Given the description of an element on the screen output the (x, y) to click on. 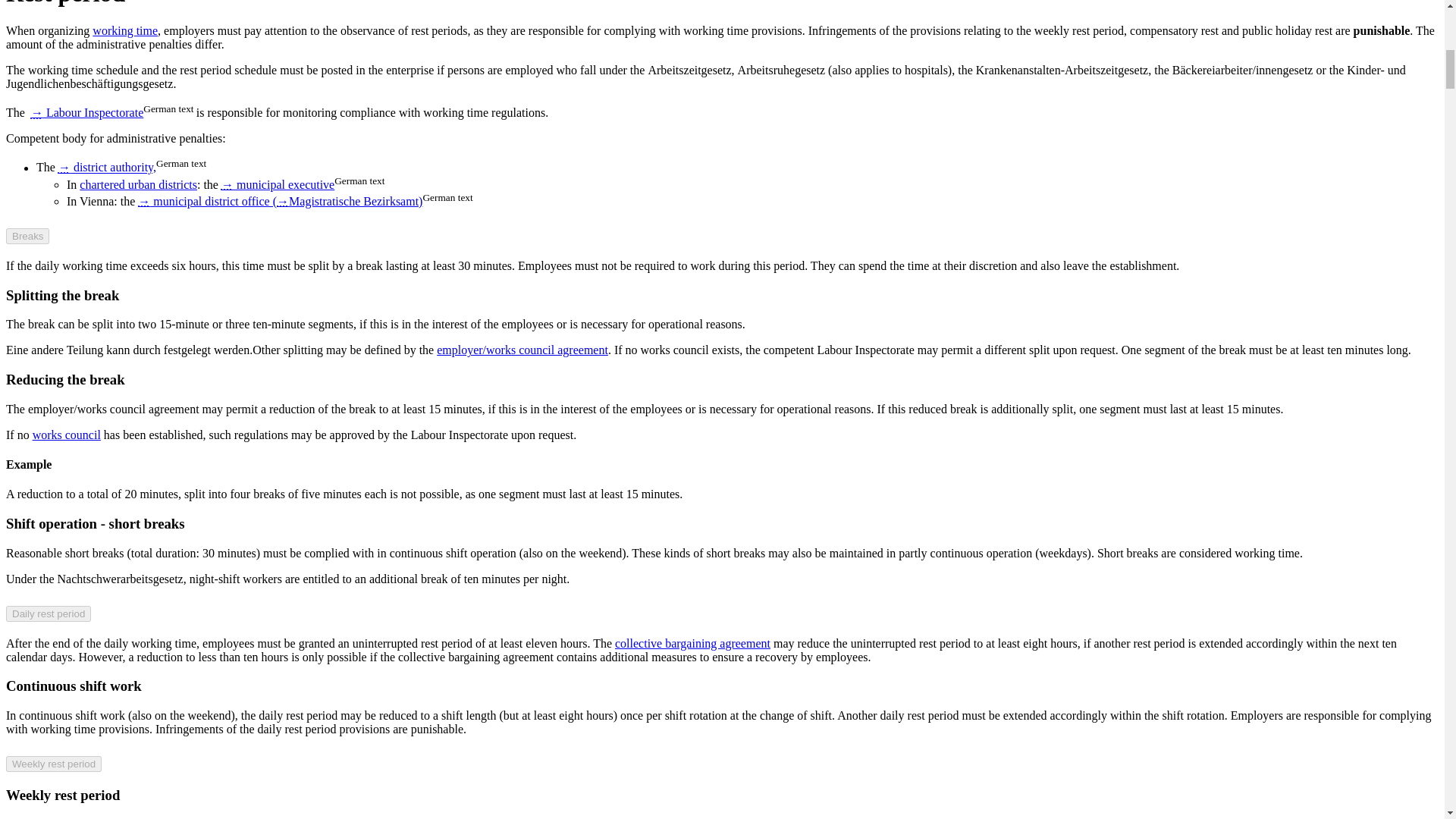
Go to (36, 112)
Go to (226, 184)
Go to (143, 201)
Opens in a new Tab (280, 201)
Opens in a new Tab (277, 184)
Opens in a new Tab (106, 167)
Go to (63, 167)
Opens in a new Tab (86, 112)
Go to (282, 201)
